Given the description of an element on the screen output the (x, y) to click on. 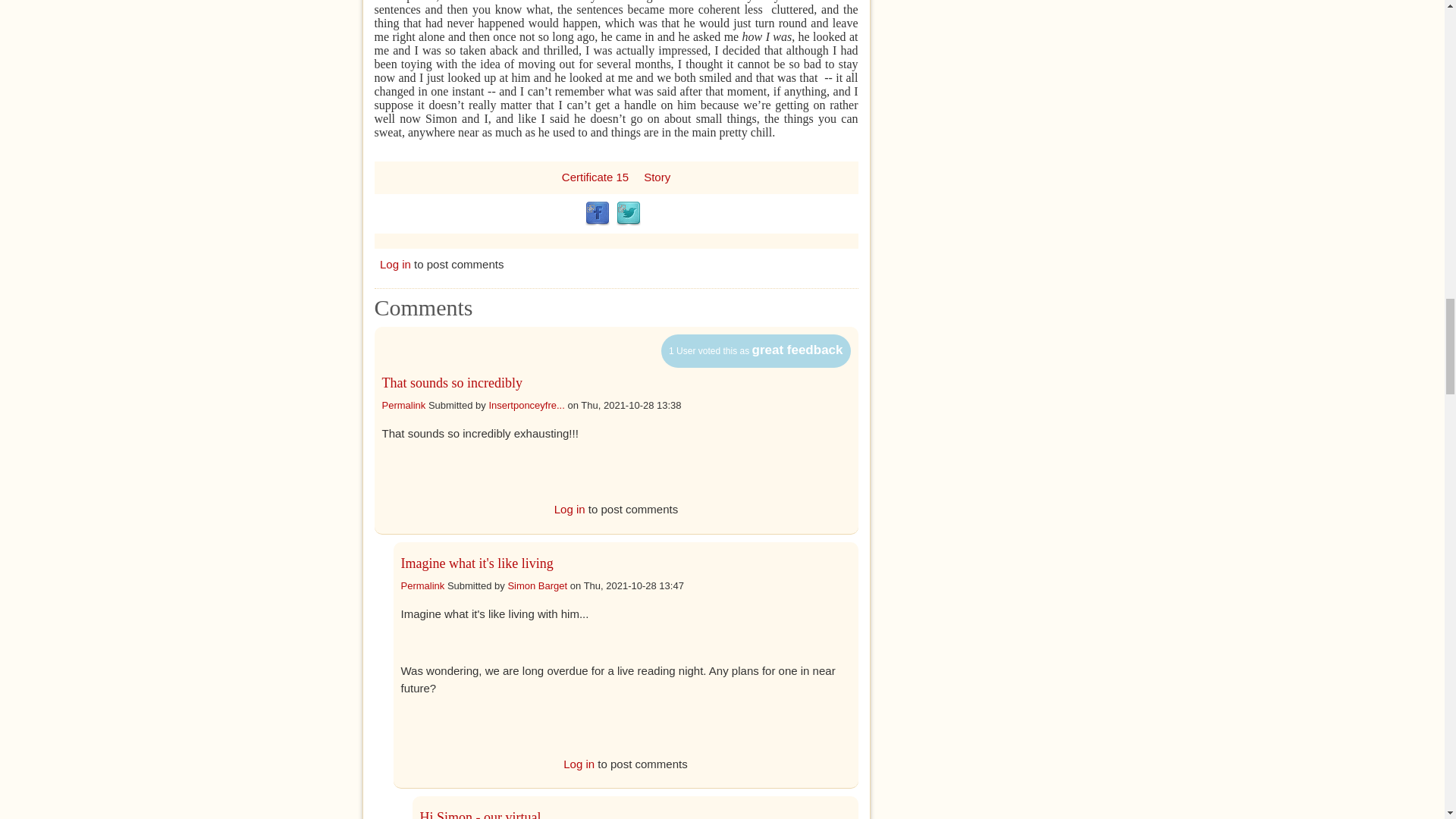
Hi Simon - our virtual (480, 814)
Certificate 15 (595, 176)
Permalink (422, 584)
Simon Barget (536, 584)
Twitter (627, 213)
Log in (569, 508)
Facebook (597, 213)
Twitter (627, 213)
Permalink (403, 404)
Insertponceyfre... (525, 404)
Log in (578, 762)
View user profile. (536, 584)
That sounds so incredibly (451, 381)
Imagine what it's like living (476, 562)
Log in (395, 264)
